Given the description of an element on the screen output the (x, y) to click on. 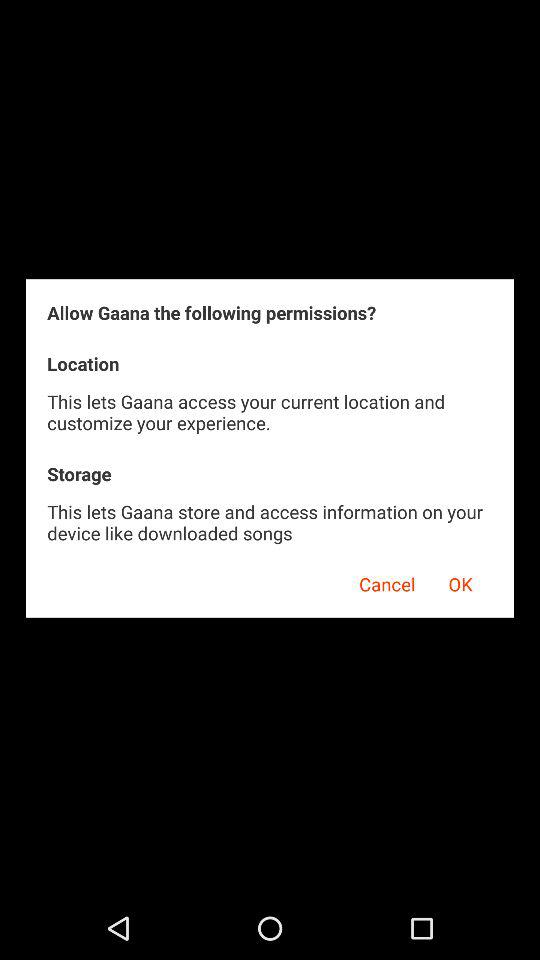
swipe until ok item (460, 581)
